Given the description of an element on the screen output the (x, y) to click on. 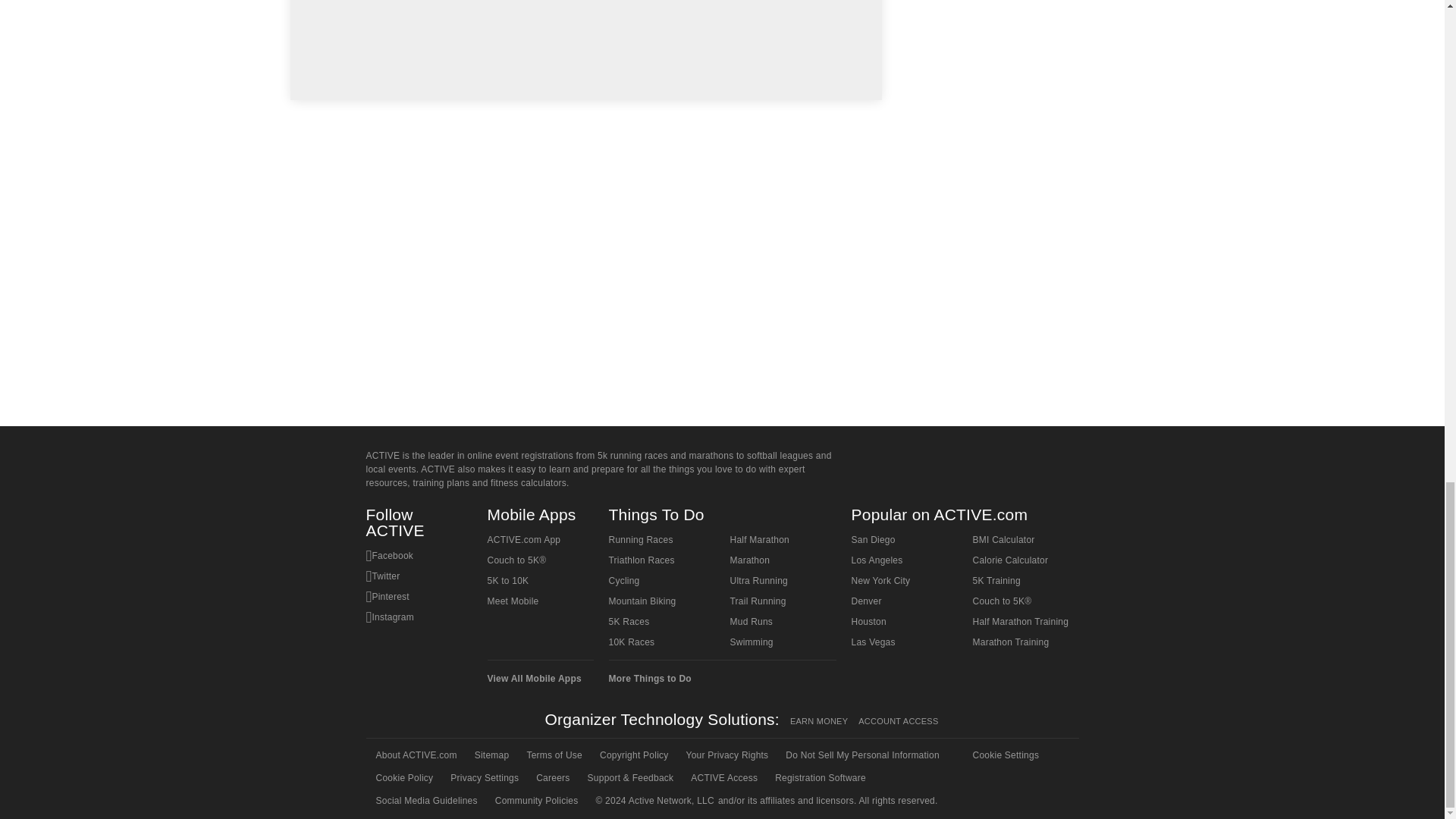
Cookie Policy (403, 777)
Your Privacy Rights: Updated (726, 754)
Careers at Active (550, 777)
Do Not Sell My Personal Information (861, 754)
Privacy Settings (483, 777)
Terms of Use (552, 754)
Copyright Policy (633, 754)
